Given the description of an element on the screen output the (x, y) to click on. 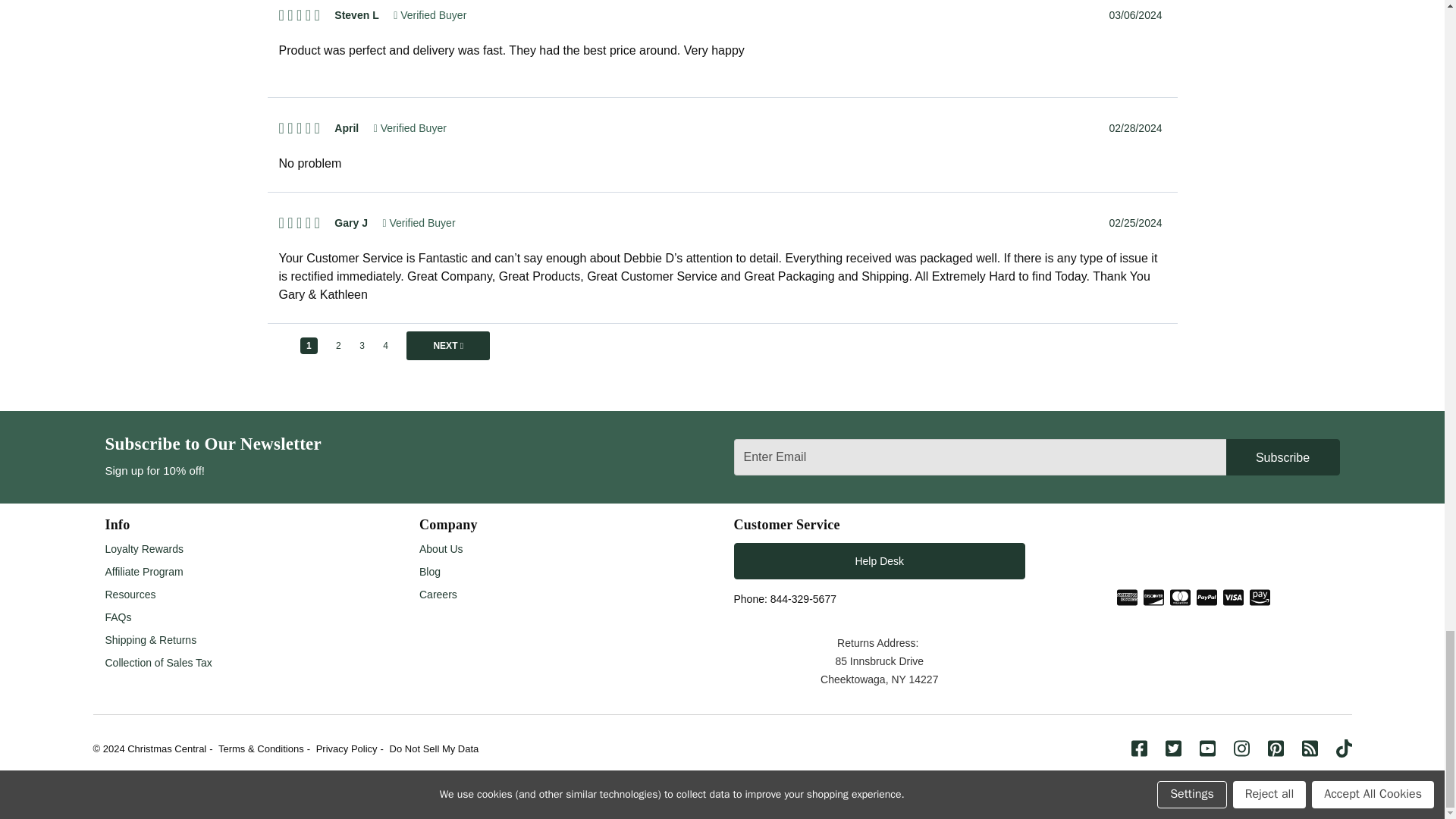
Subscribe (1282, 456)
PayPal (1206, 597)
American Express (1126, 597)
MasterCard (1180, 597)
Discover (1152, 597)
